Given the description of an element on the screen output the (x, y) to click on. 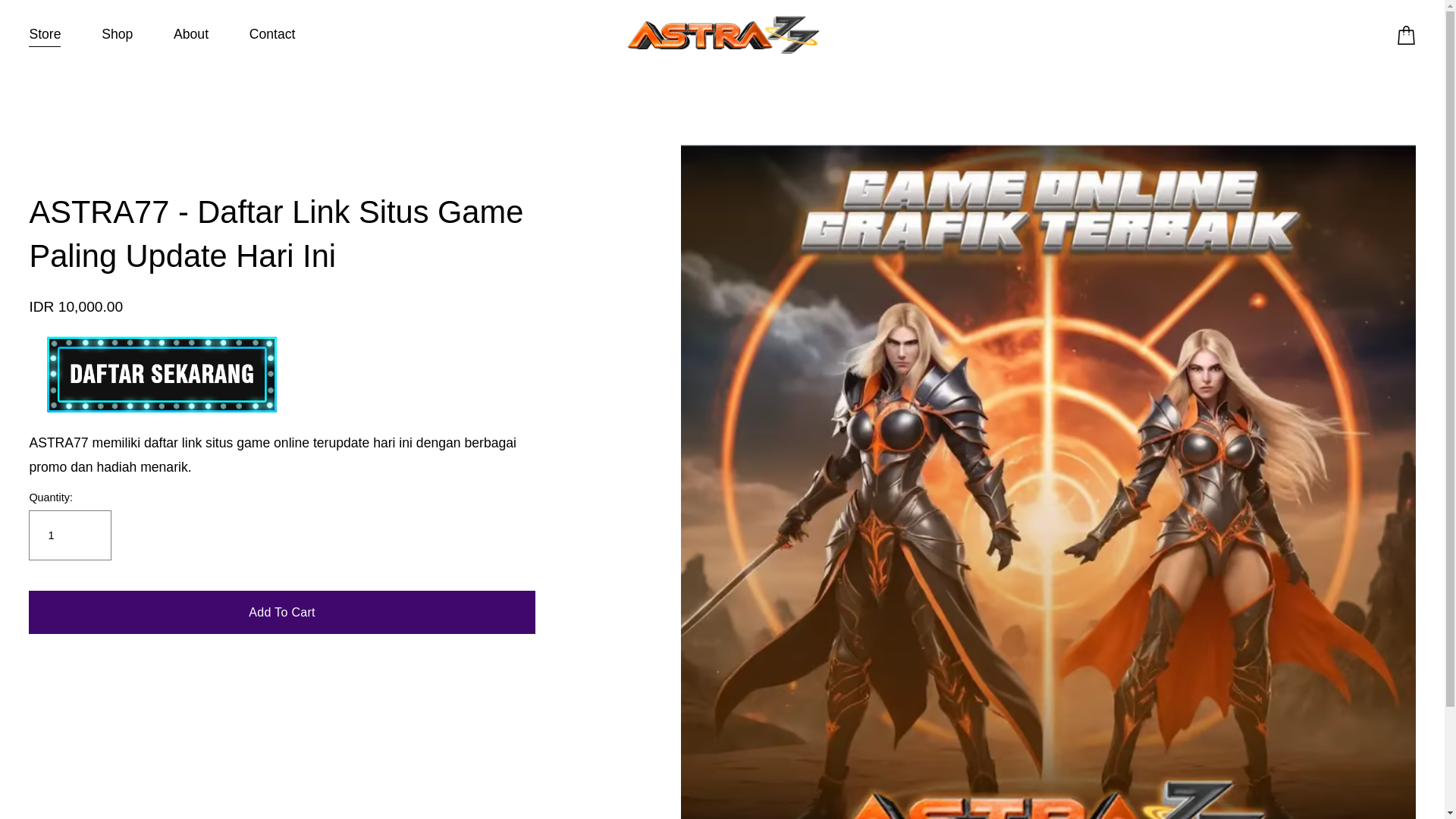
About (190, 35)
Contact (271, 35)
Shop (116, 35)
1 (70, 535)
Store (45, 35)
